Given the description of an element on the screen output the (x, y) to click on. 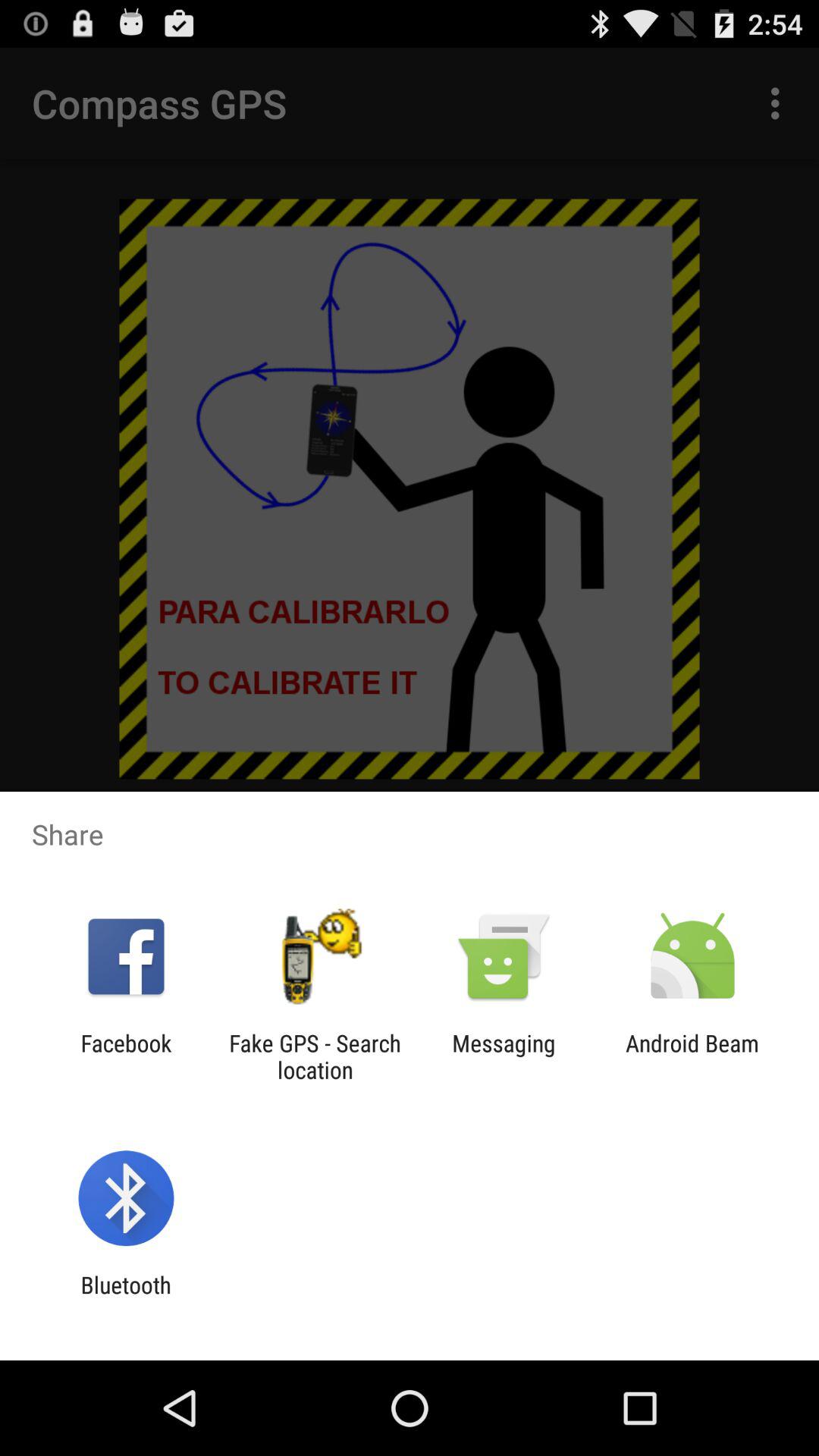
launch icon to the right of the messaging icon (692, 1056)
